Given the description of an element on the screen output the (x, y) to click on. 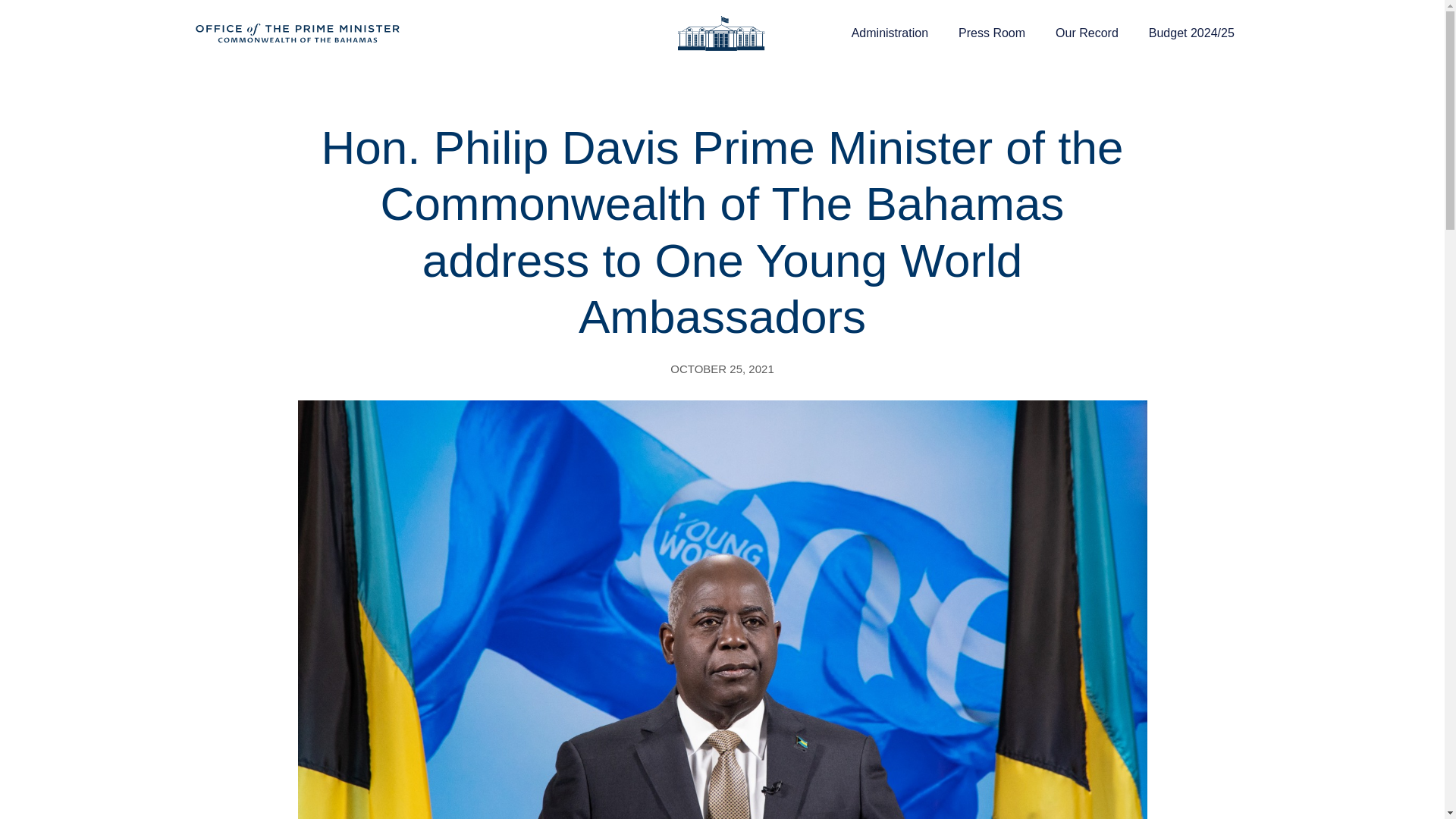
OCTOBER 25, 2021 (721, 369)
Press Room (992, 32)
Administration (889, 32)
Our Record (1087, 32)
